Given the description of an element on the screen output the (x, y) to click on. 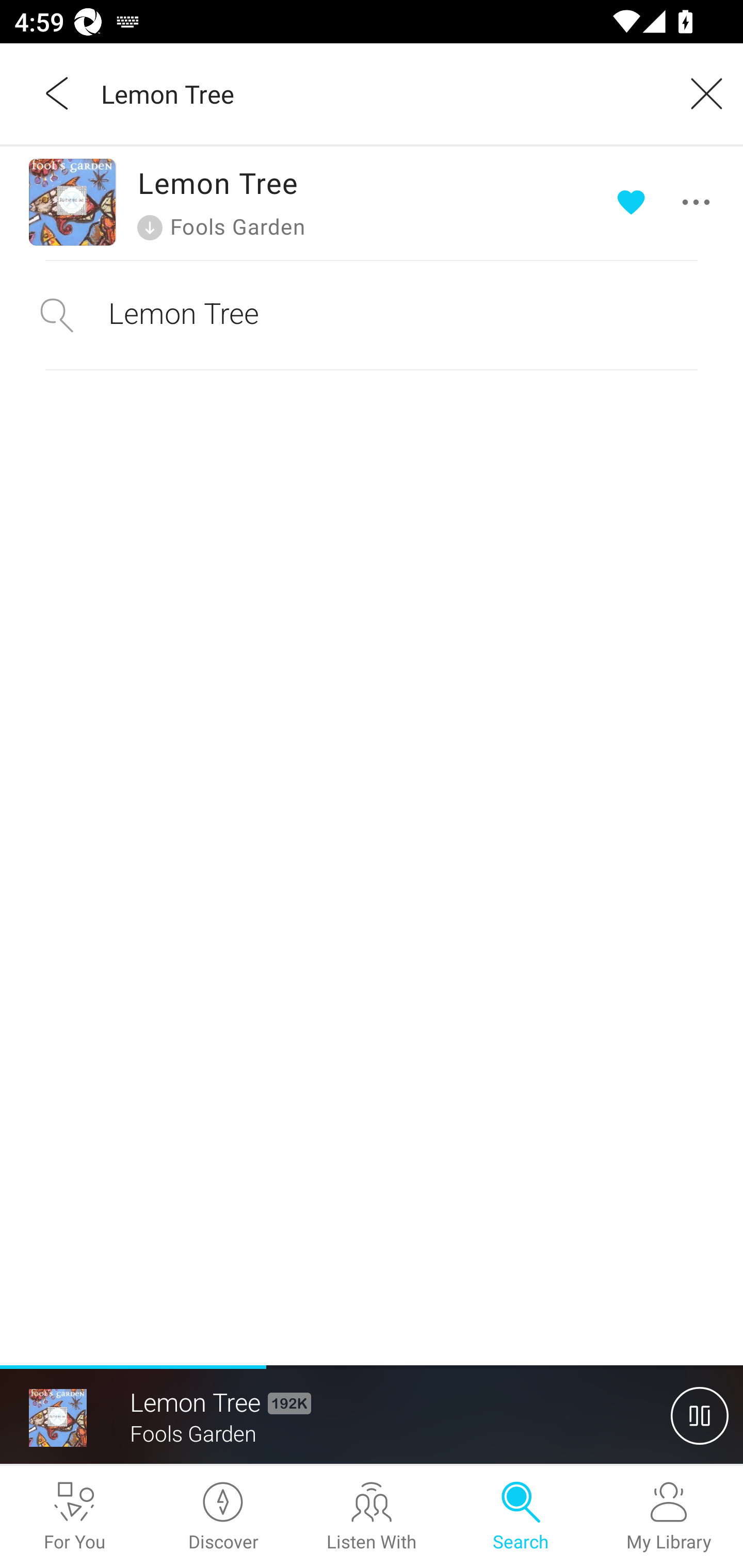
Lemon Tree (378, 92)
Clear query (699, 92)
Back,outside of the list (57, 93)
更多操作選項 (667, 202)
Lemon Tree (371, 315)
暫停播放 (699, 1415)
For You (74, 1517)
Discover (222, 1517)
Listen With (371, 1517)
Search (519, 1517)
My Library (668, 1517)
